Given the description of an element on the screen output the (x, y) to click on. 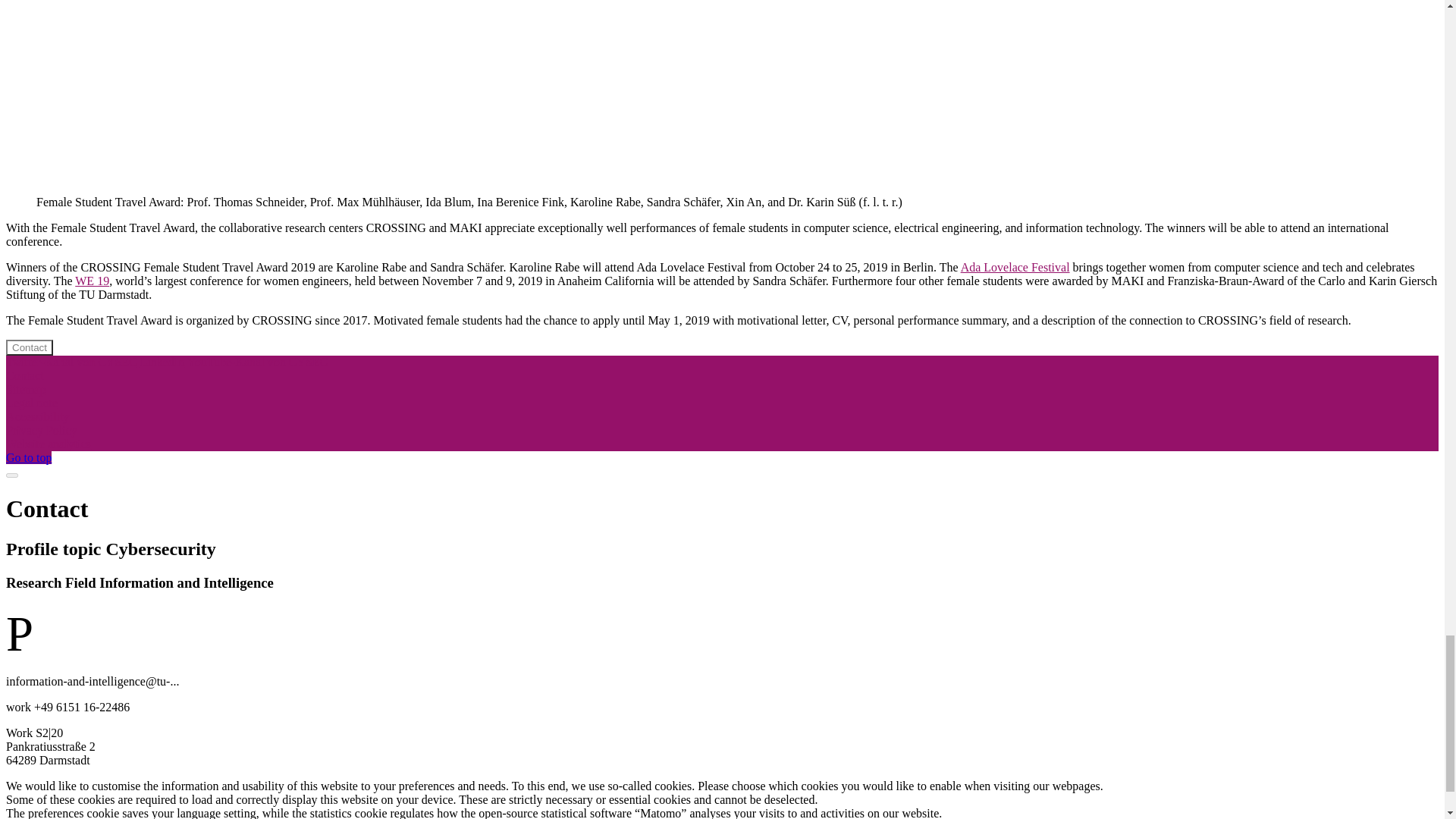
Twitter-Kanal von CYSEC (72, 361)
